Given the description of an element on the screen output the (x, y) to click on. 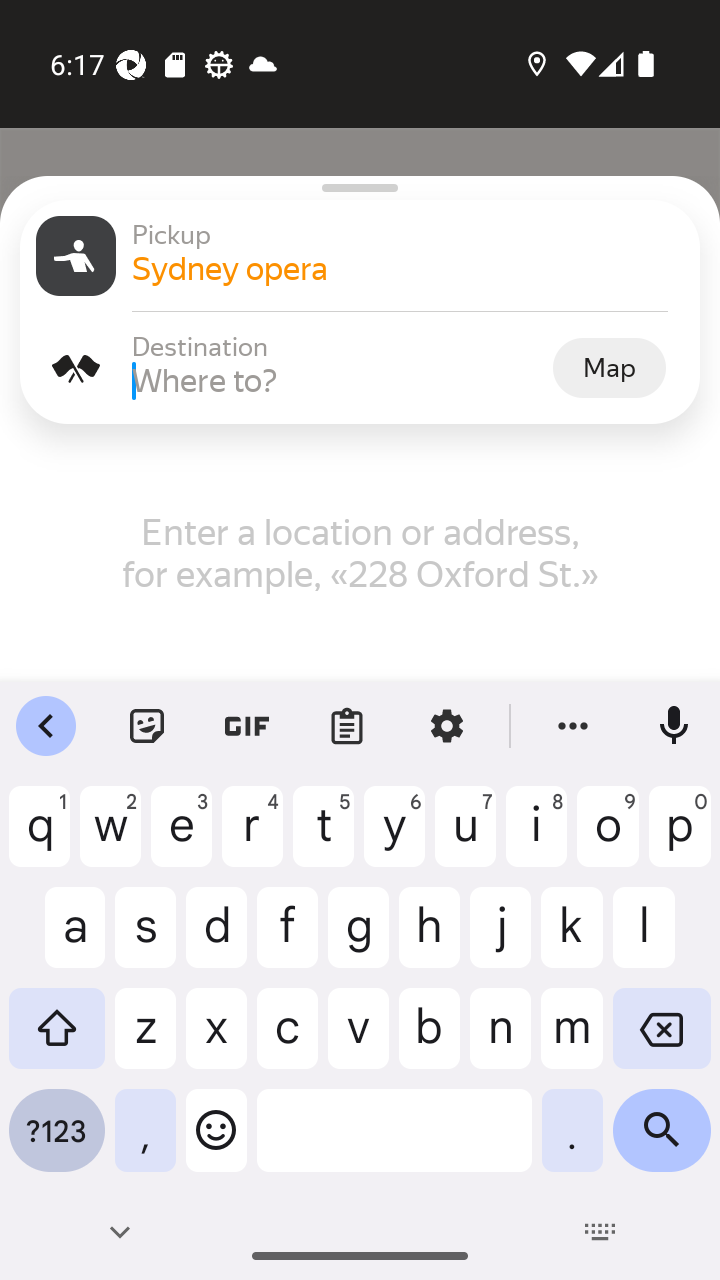
Pickup Pickup Sydney opera (359, 255)
Sydney opera (407, 268)
Destination Destination Where to? Map (359, 367)
Map (609, 367)
Where to? (340, 380)
